Given the description of an element on the screen output the (x, y) to click on. 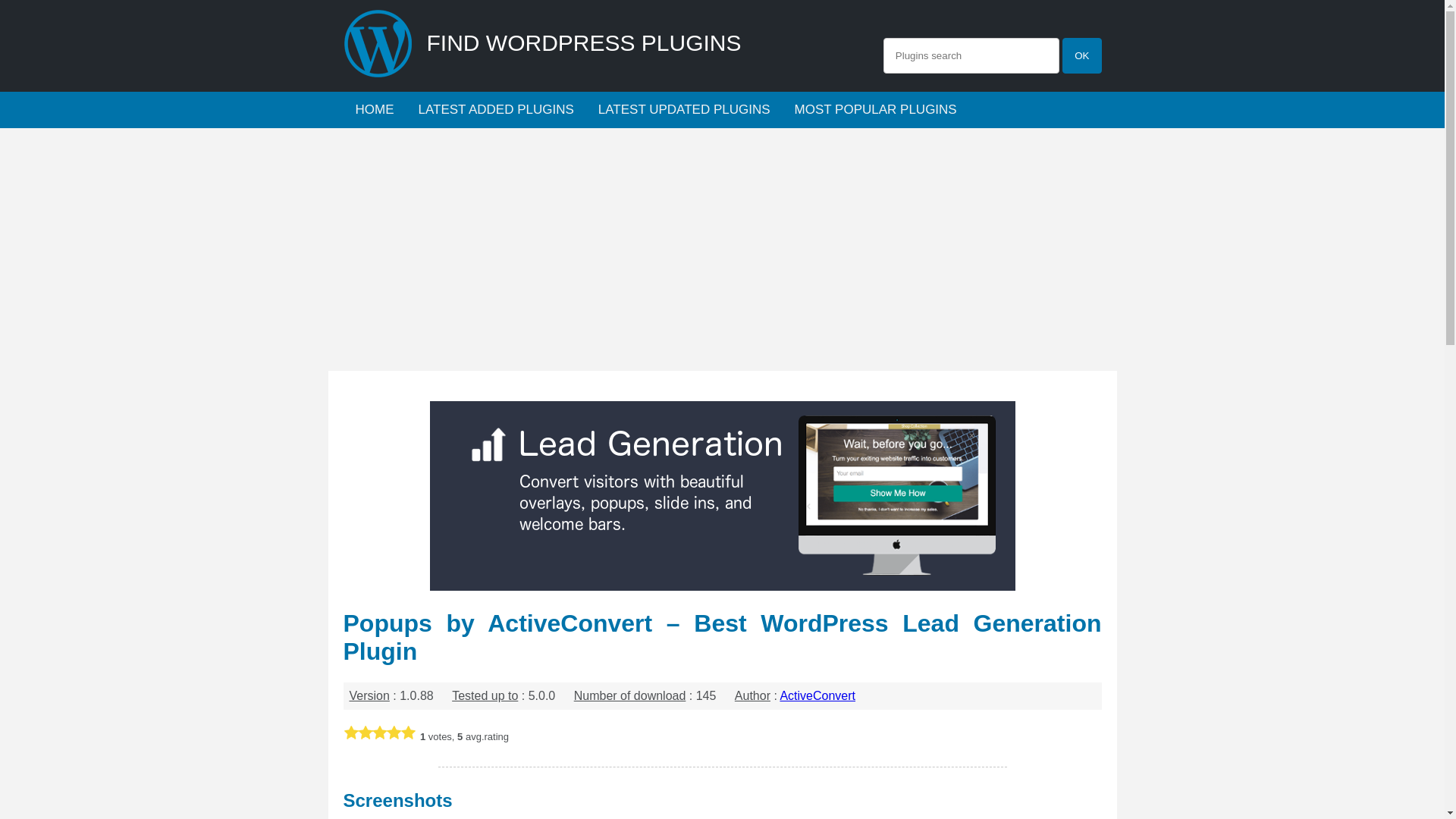
Last updated wordpress plugins (684, 109)
OK (1081, 55)
Find Wordpress plugins (378, 76)
Last added wordpress oplugins (496, 109)
Most popular wordpress plugins (876, 109)
HOME (374, 109)
OK (1081, 55)
ActiveConvert (817, 695)
LATEST UPDATED PLUGINS (684, 109)
MOST POPULAR PLUGINS (876, 109)
Find Wordpress plugins (374, 109)
LATEST ADDED PLUGINS (496, 109)
